Given the description of an element on the screen output the (x, y) to click on. 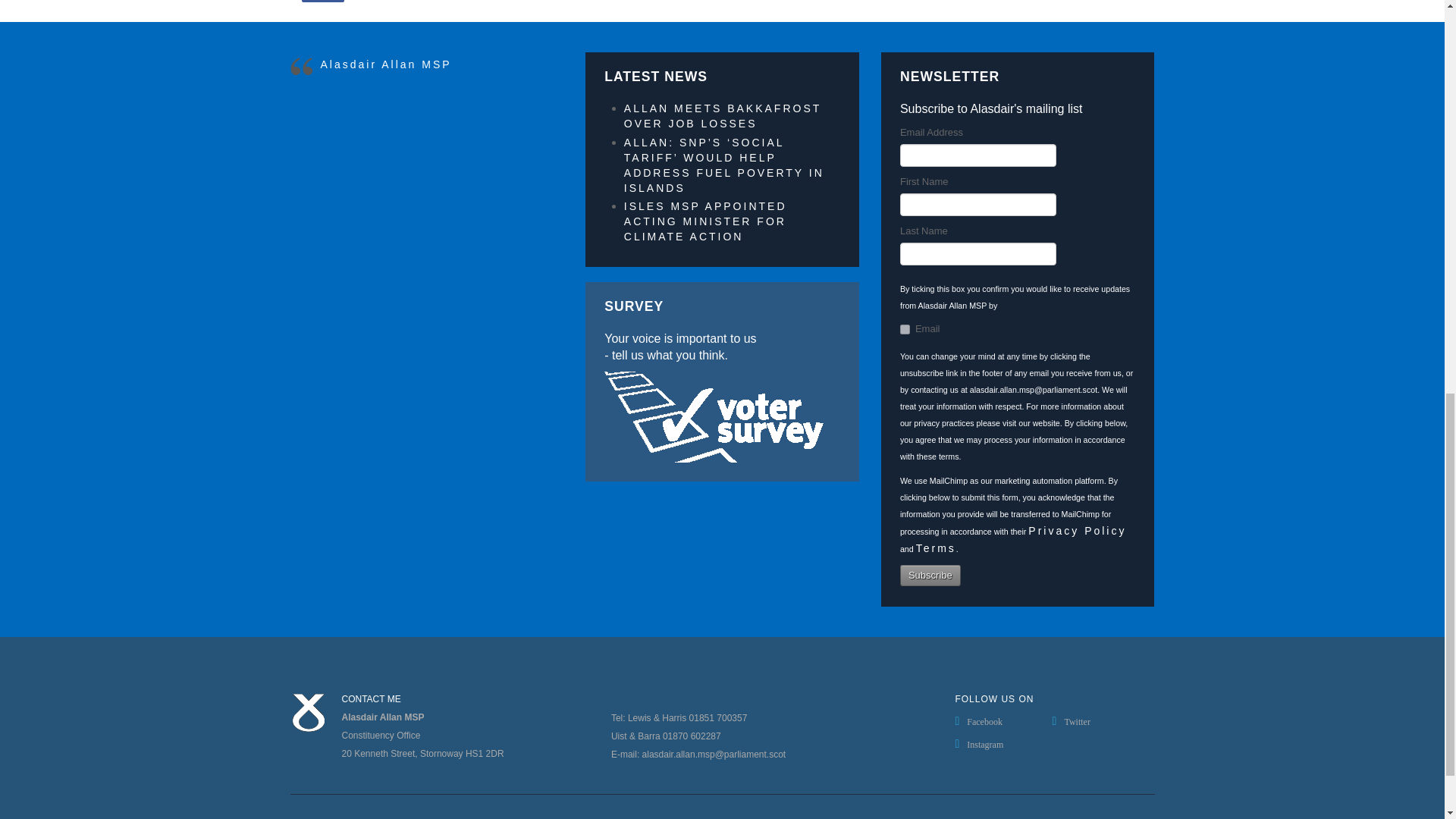
fShare (322, 1)
ALLAN MEETS BAKKAFROST OVER JOB LOSSES (722, 115)
Facebook (1003, 721)
Twitter (1101, 721)
Subscribe (929, 575)
Facebook (1003, 721)
Twitter (1101, 721)
ISLES MSP APPOINTED ACTING MINISTER FOR CLIMATE ACTION (705, 220)
Instagram (1003, 743)
Subscribe (929, 575)
Alasdair Allan MSP (385, 64)
Y (904, 329)
Terms (935, 548)
Privacy Policy (1076, 530)
